Given the description of an element on the screen output the (x, y) to click on. 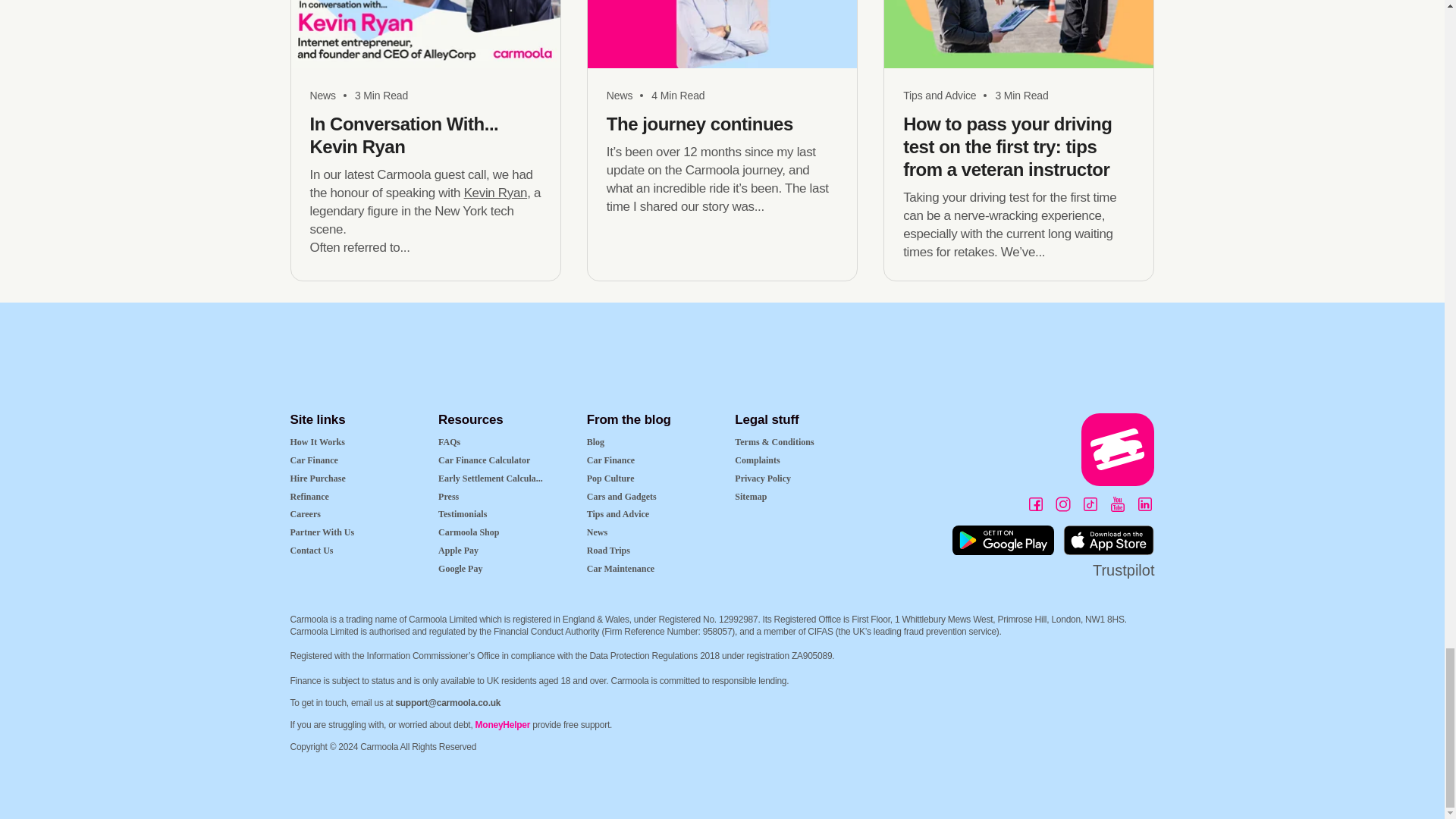
Carmoola App Icon (1117, 449)
The journey continues (677, 95)
In Conversation With... Kevin Ryan (381, 95)
